Given the description of an element on the screen output the (x, y) to click on. 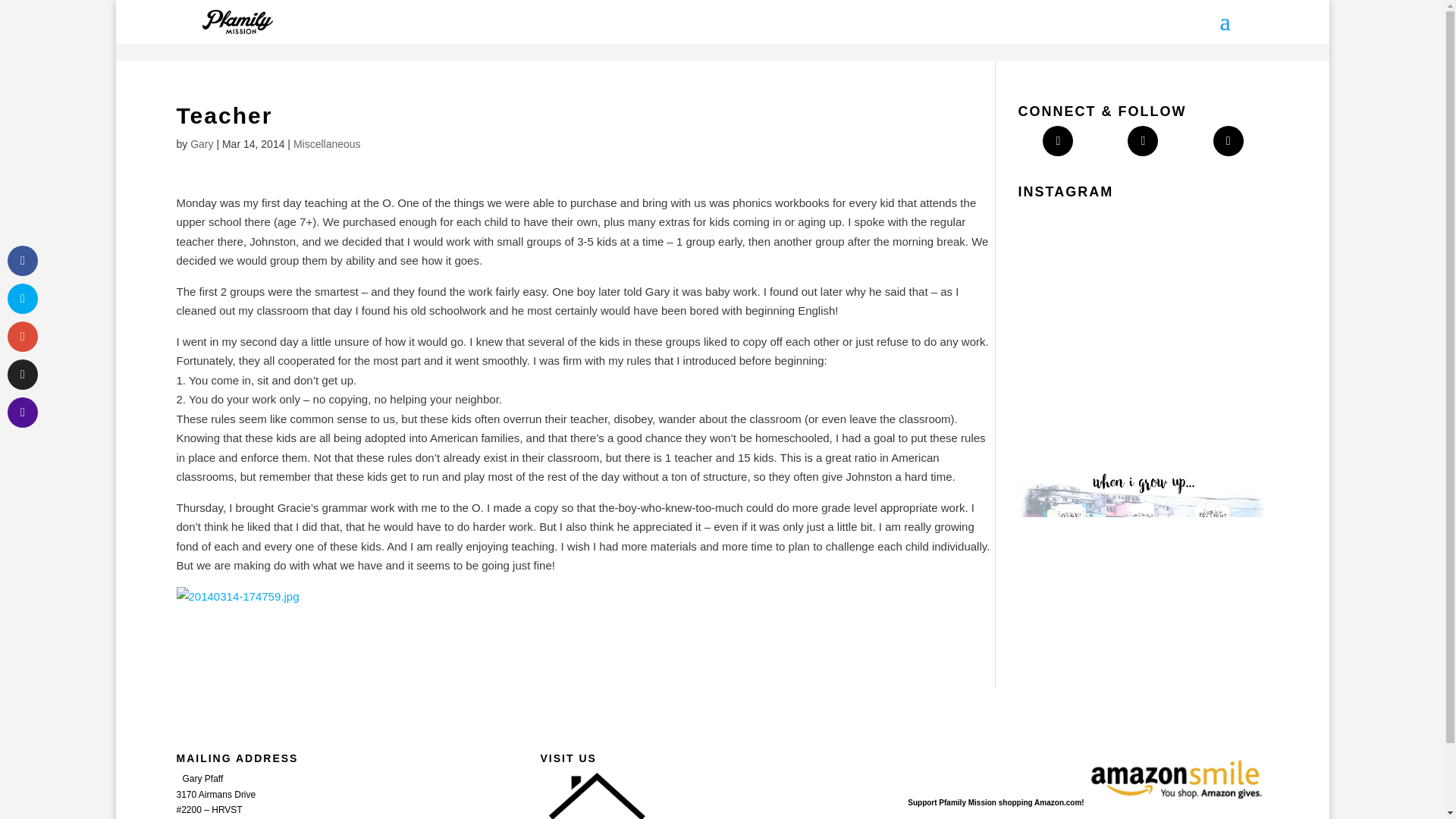
Posts by Gary (201, 143)
Gary (201, 143)
Miscellaneous (327, 143)
